Given the description of an element on the screen output the (x, y) to click on. 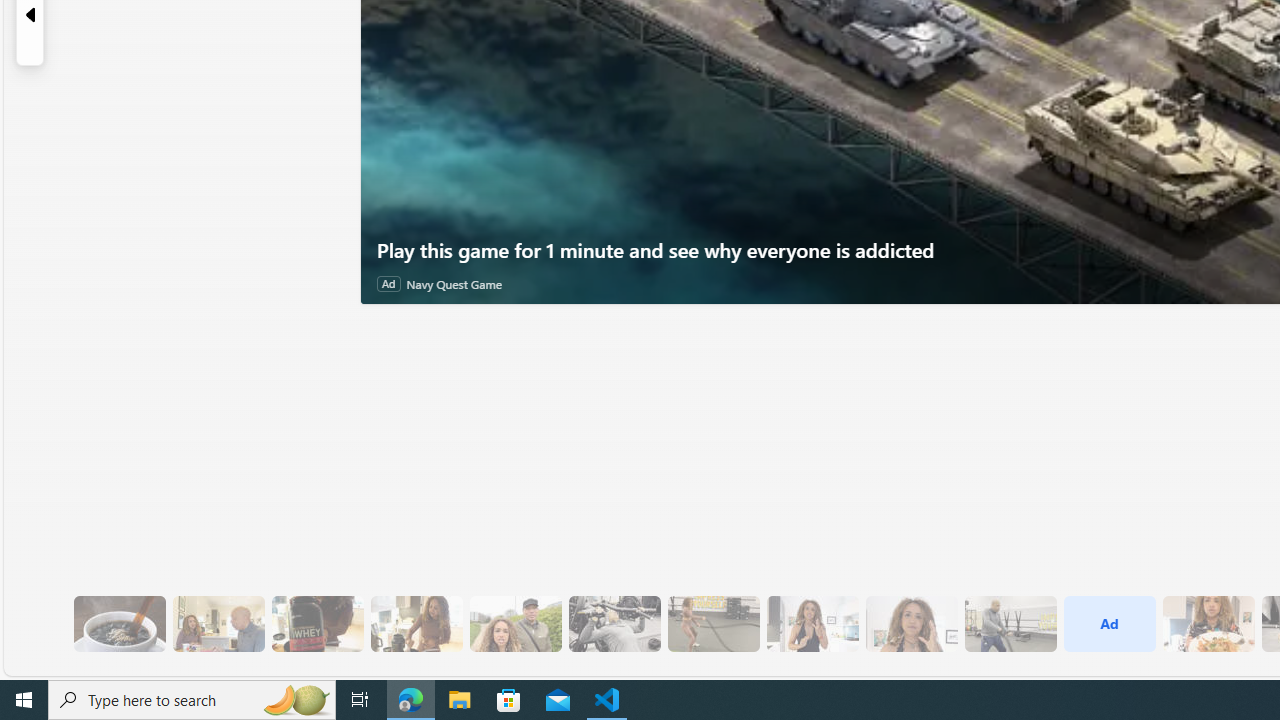
7 They Don't Skip Meals (416, 624)
14 They Have Salmon and Veggies for Dinner (1208, 624)
14 They Have Salmon and Veggies for Dinner (1208, 624)
8 Be Mindful of Coffee (119, 624)
11 They Eat More Protein for Breakfast (811, 624)
8 Be Mindful of Coffee (119, 624)
6 Since Eating More Protein Her Training Has Improved (317, 624)
13 Her Husband Does Group Cardio Classs (1010, 624)
8 They Walk to the Gym (514, 624)
8 They Walk to the Gym (514, 624)
